Given the description of an element on the screen output the (x, y) to click on. 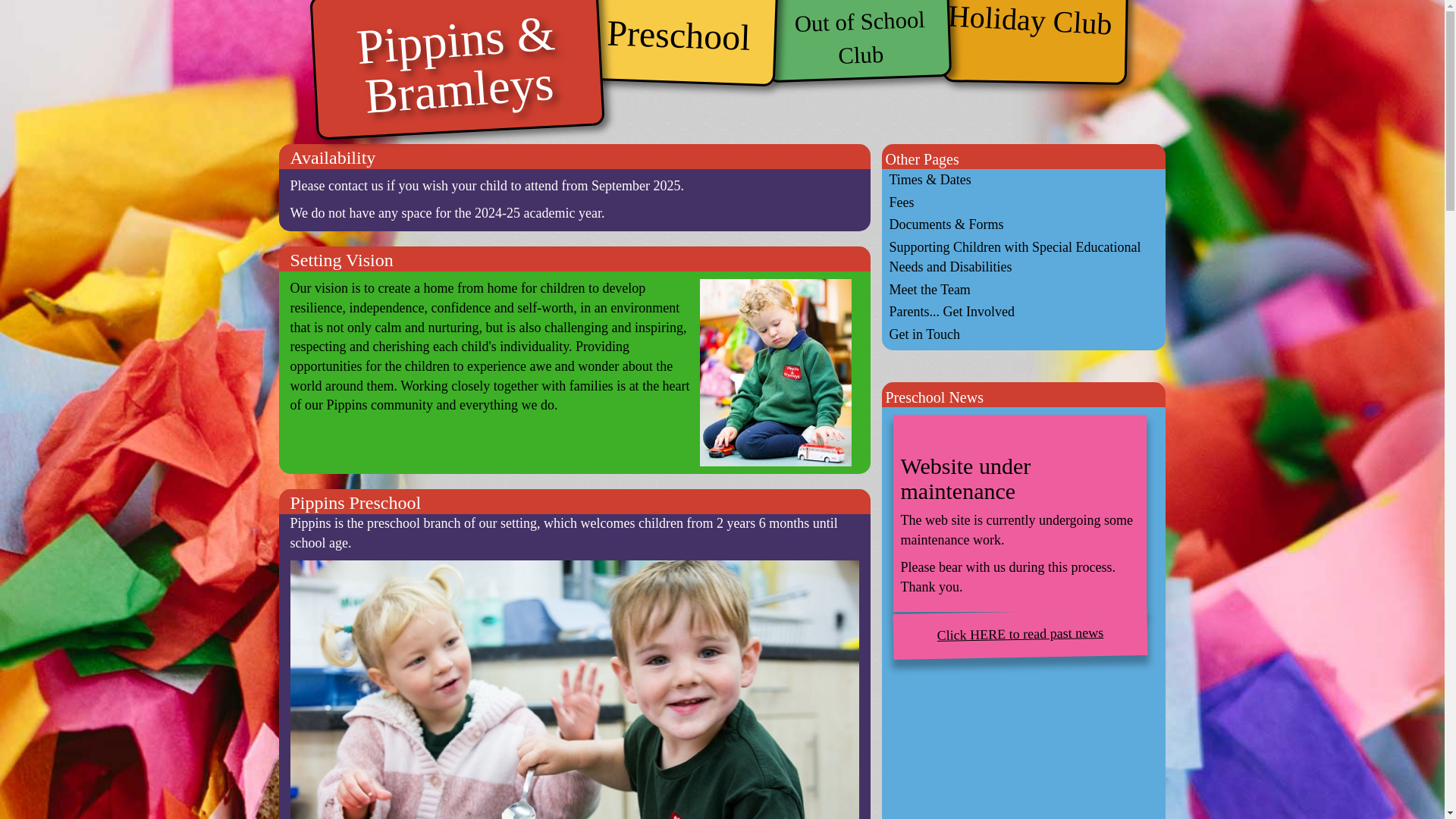
Click HERE to read past news (1019, 631)
Meet the Team (1021, 290)
Parents... Get Involved (1021, 312)
Get in Touch (1021, 334)
Fees (1021, 202)
